Given the description of an element on the screen output the (x, y) to click on. 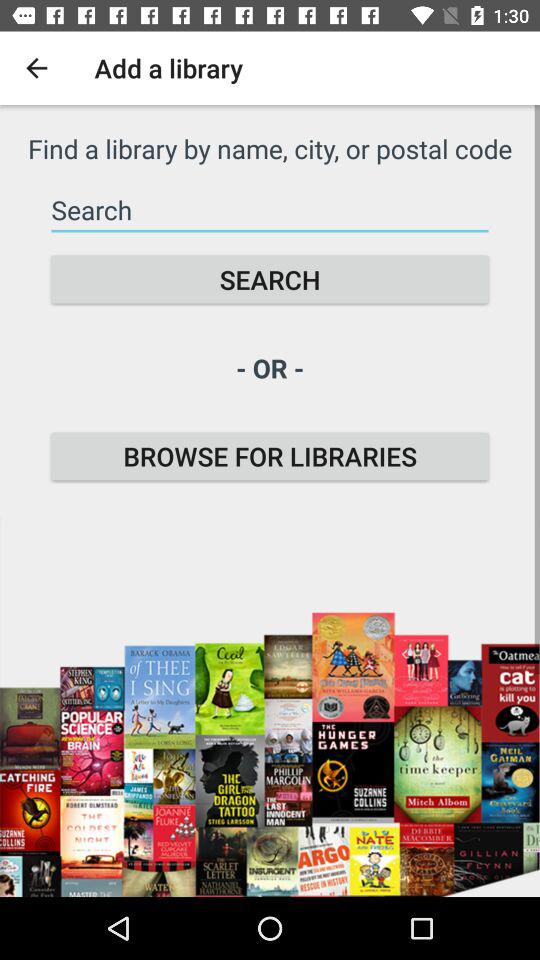
choose the search icon (269, 279)
